Given the description of an element on the screen output the (x, y) to click on. 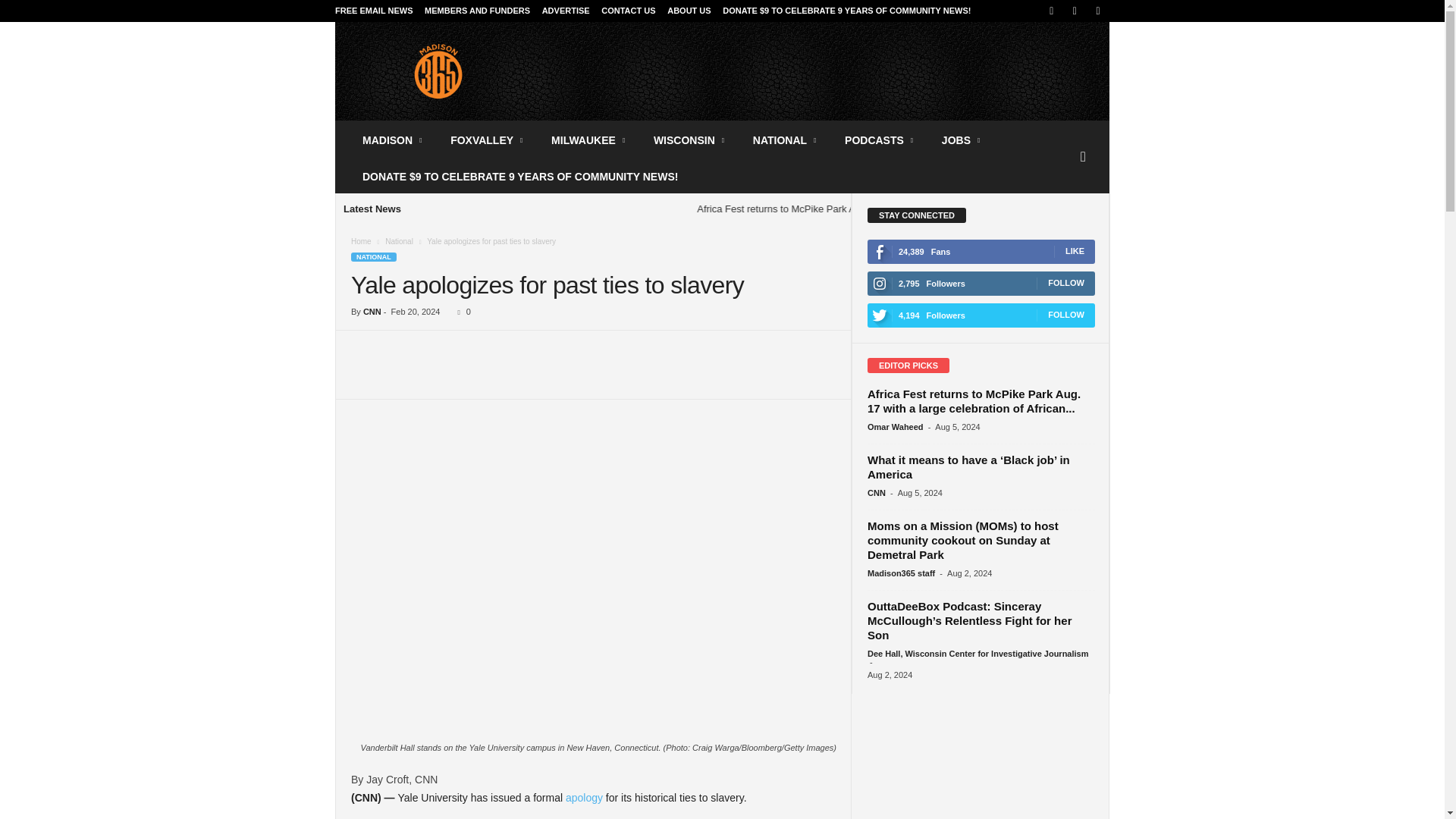
CONTACT US (628, 10)
FREE EMAIL NEWS (373, 10)
Madison365 (437, 70)
MEMBERS AND FUNDERS (477, 10)
ADVERTISE (565, 10)
ABOUT US (688, 10)
MADISON (392, 140)
